Given the description of an element on the screen output the (x, y) to click on. 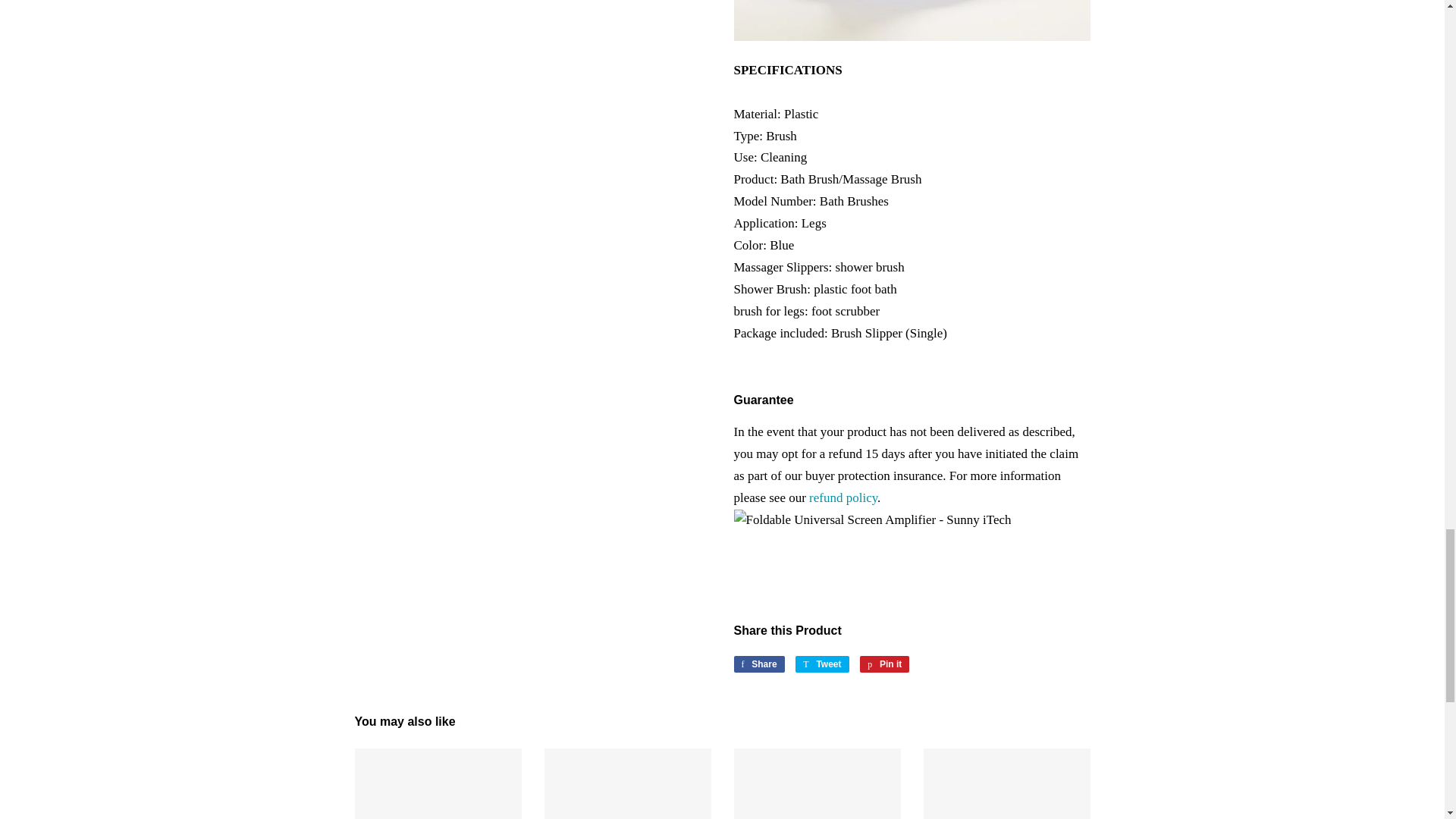
Share on Facebook (758, 664)
refund policy (758, 664)
Pin on Pinterest (843, 497)
Refund Policy (884, 664)
Tweet on Twitter (843, 497)
